Given the description of an element on the screen output the (x, y) to click on. 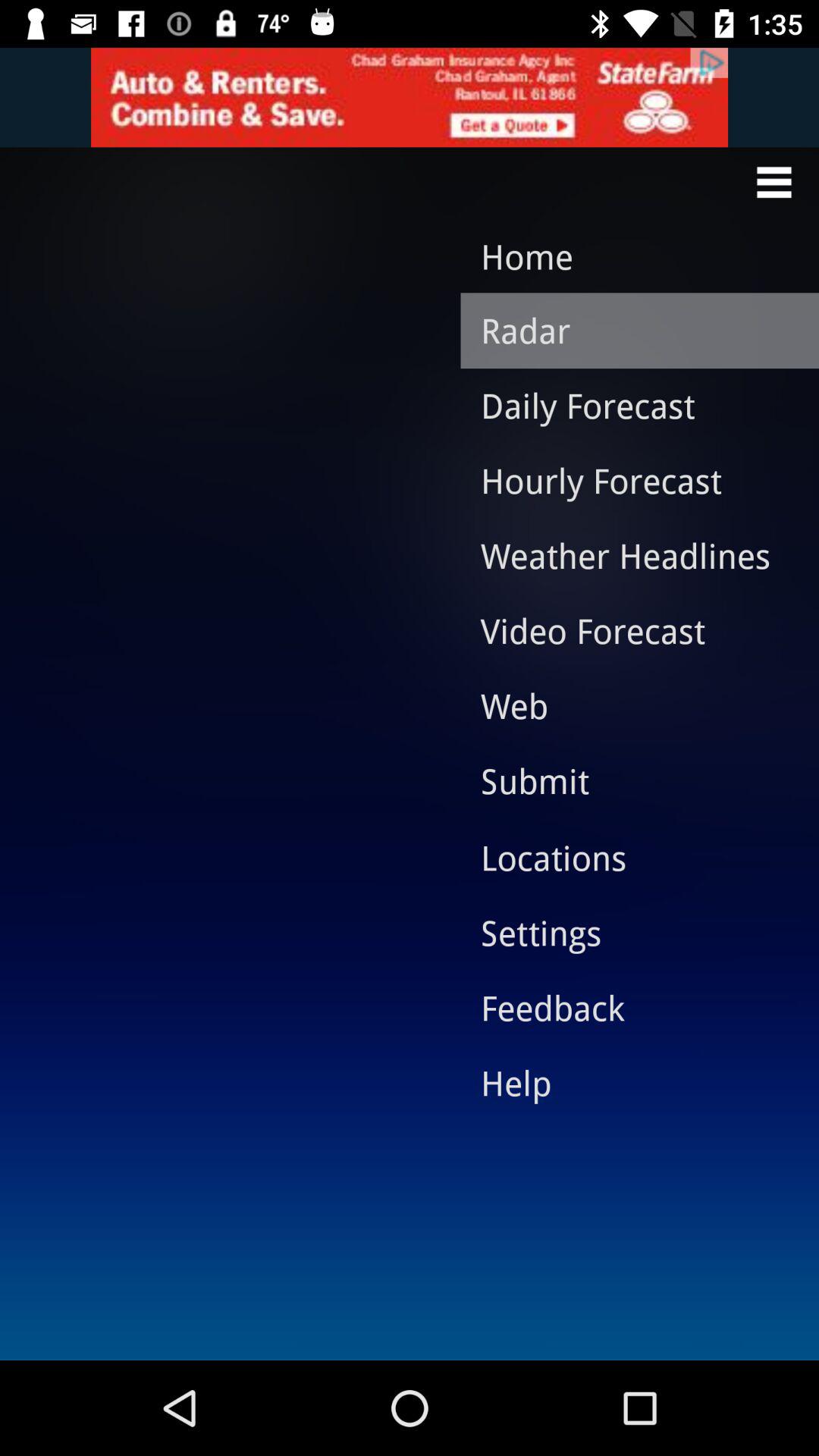
open advertisement for statefarm (409, 97)
